Given the description of an element on the screen output the (x, y) to click on. 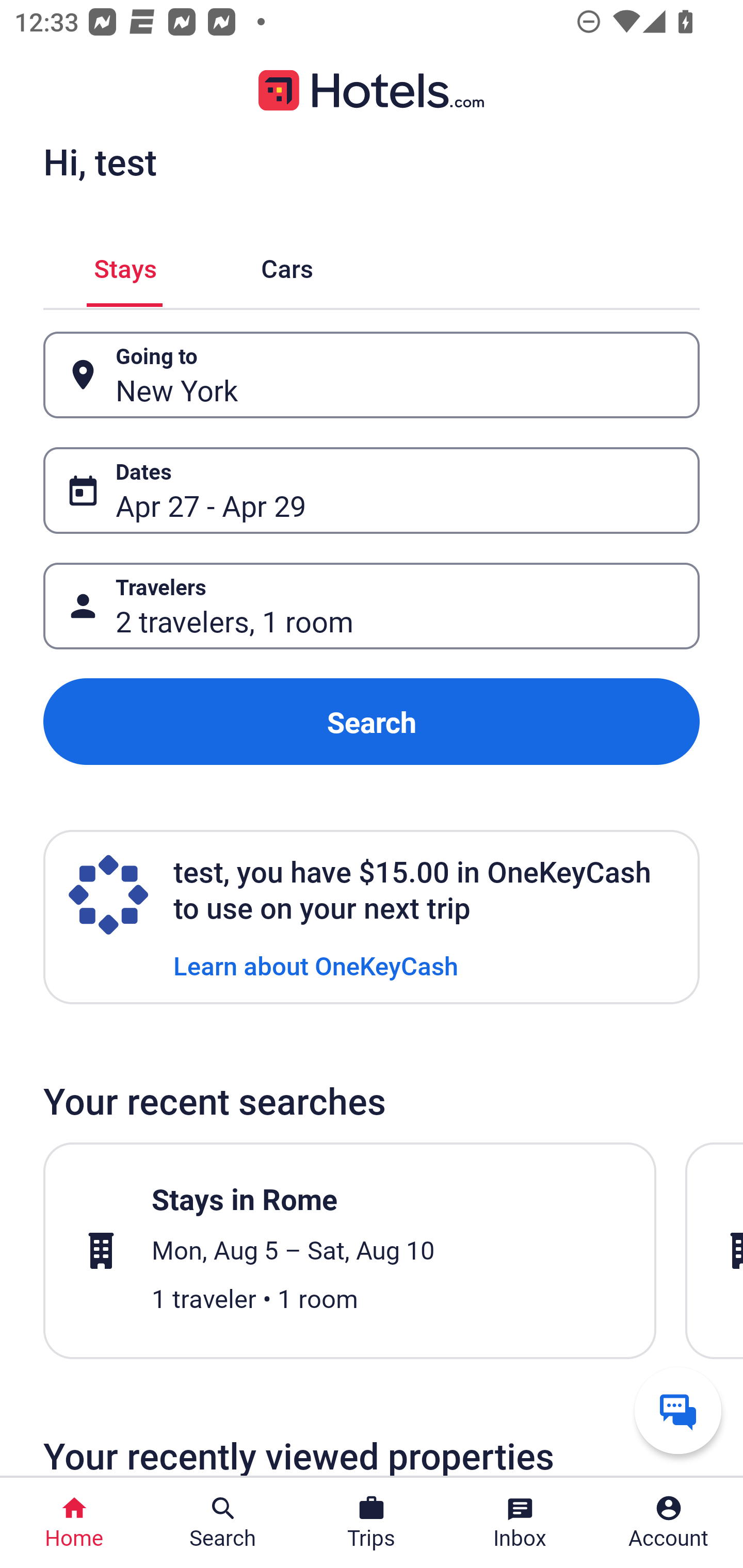
Hi, test (99, 161)
Cars (286, 265)
Going to Button New York (371, 375)
Dates Button Apr 27 - Apr 29 (371, 489)
Travelers Button 2 travelers, 1 room (371, 605)
Search (371, 721)
Learn about OneKeyCash Learn about OneKeyCash Link (315, 964)
Get help from a virtual agent (677, 1410)
Search Search Button (222, 1522)
Trips Trips Button (371, 1522)
Inbox Inbox Button (519, 1522)
Account Profile. Button (668, 1522)
